Given the description of an element on the screen output the (x, y) to click on. 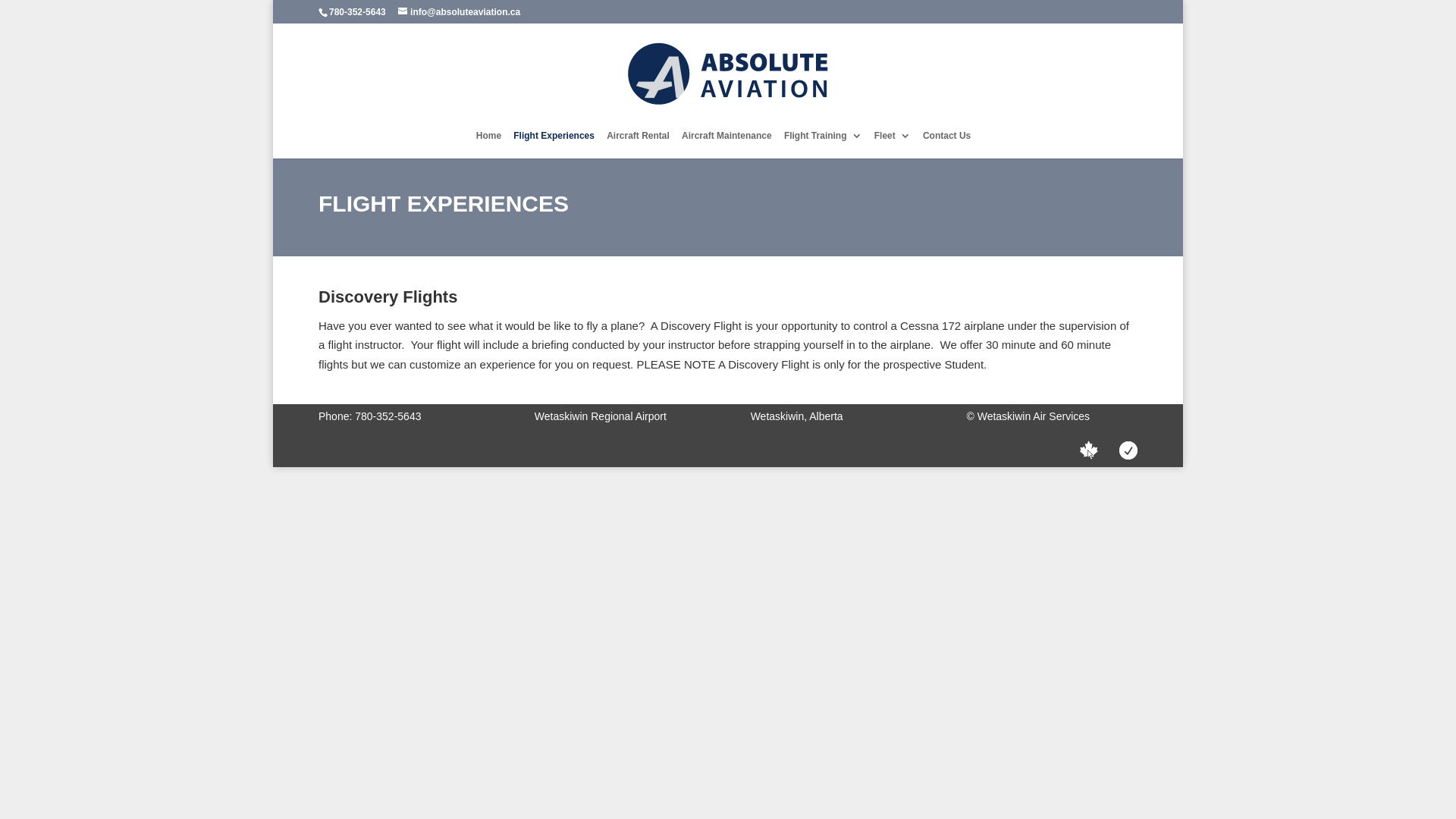
Bonified Element type: hover (1128, 451)
Aircraft Rental Element type: text (637, 144)
Contact Us Element type: text (946, 144)
info@absoluteaviation.ca Element type: text (459, 11)
780-352-5643 Element type: text (356, 11)
Flight Training Element type: text (823, 144)
Flight Experiences Element type: text (553, 144)
Aircraft Maintenance Element type: text (726, 144)
Home Element type: text (488, 144)
Fleet Element type: text (892, 144)
Websites.ca Directory Element type: hover (1088, 451)
